Given the description of an element on the screen output the (x, y) to click on. 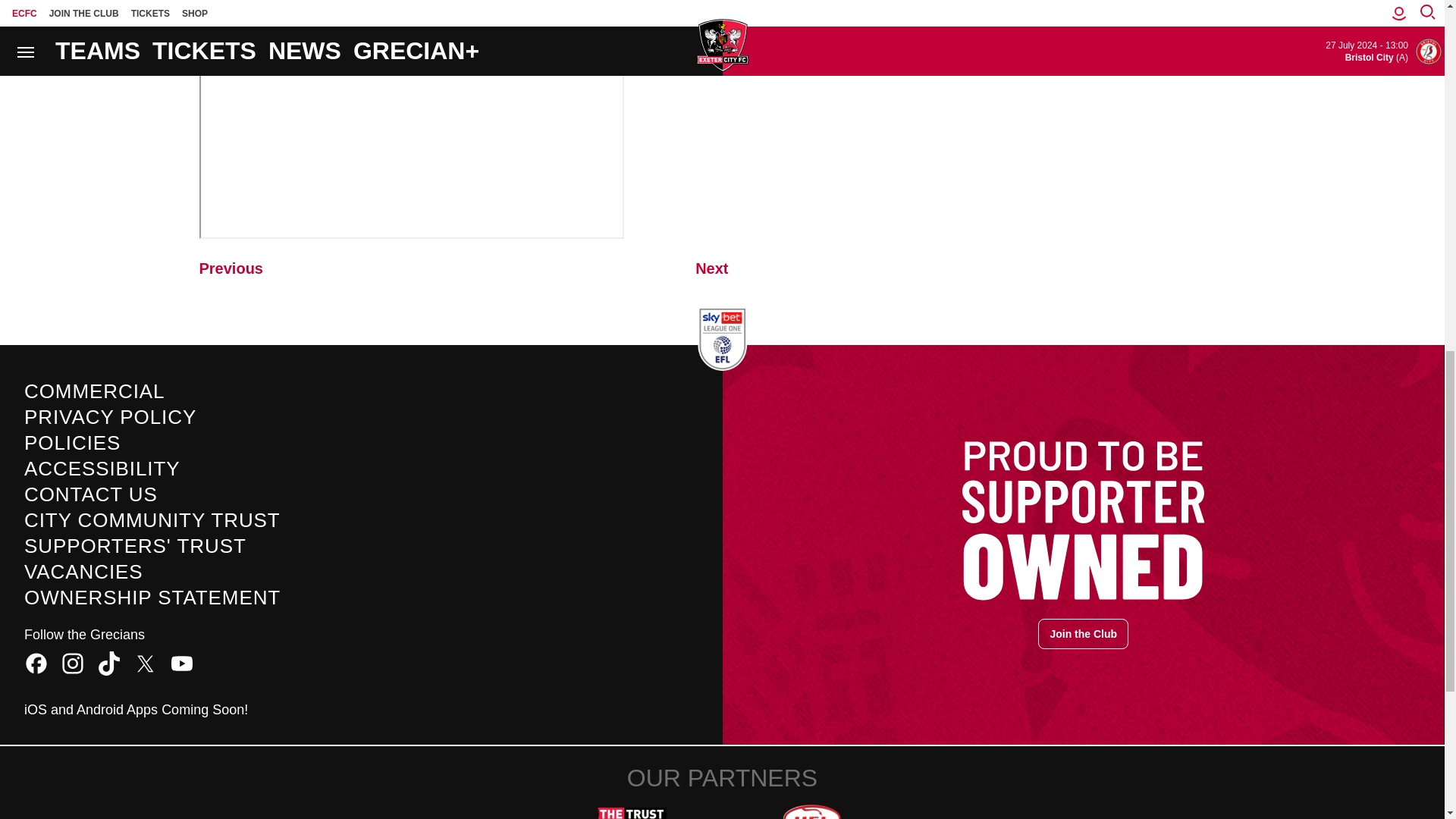
The Trust (632, 805)
Facebook (36, 663)
HEL (812, 805)
TikTok icon (108, 663)
X Formally know as Twitter (145, 663)
Instagram (72, 663)
